Given the description of an element on the screen output the (x, y) to click on. 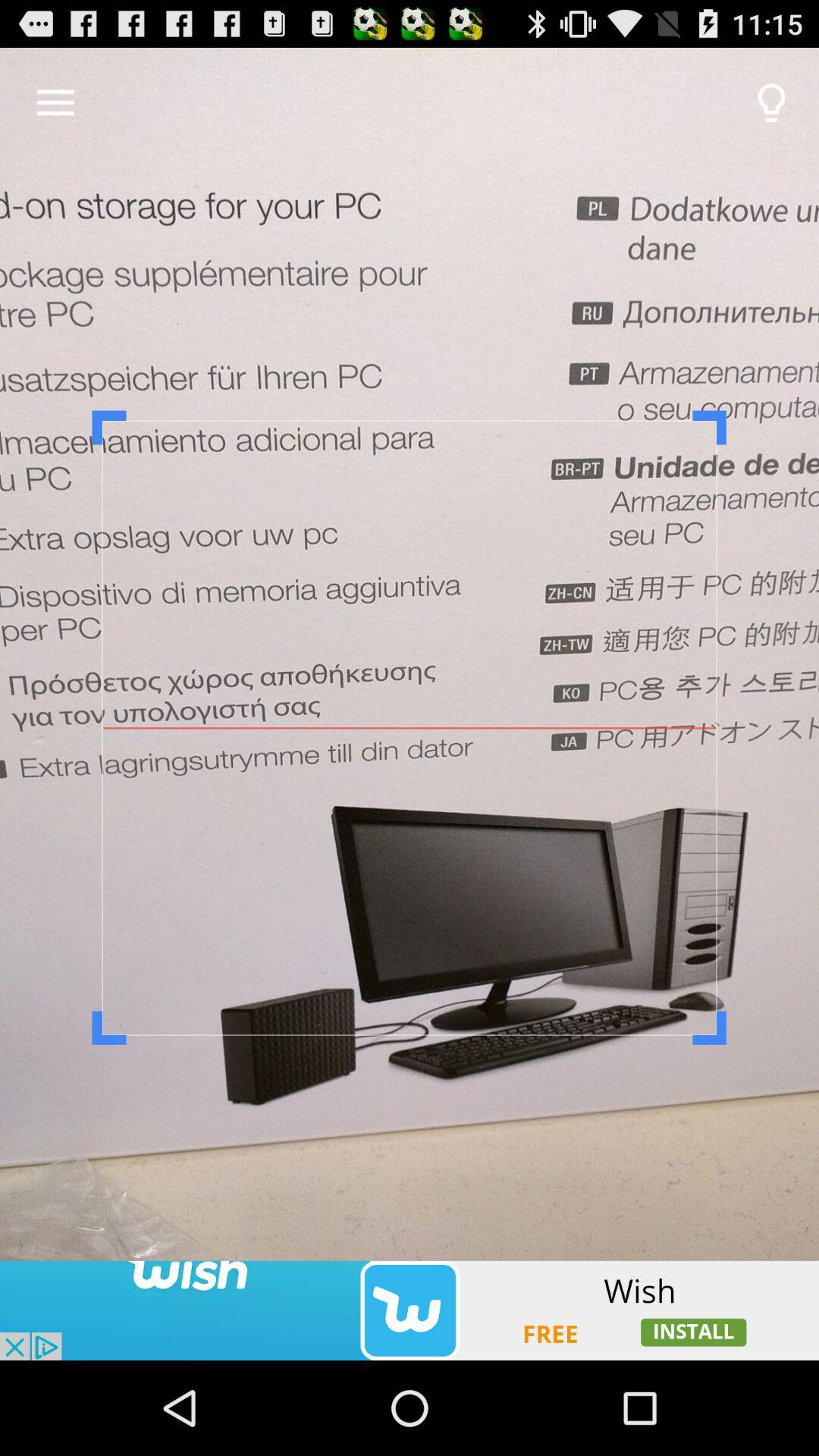
advertisement page (409, 1310)
